Given the description of an element on the screen output the (x, y) to click on. 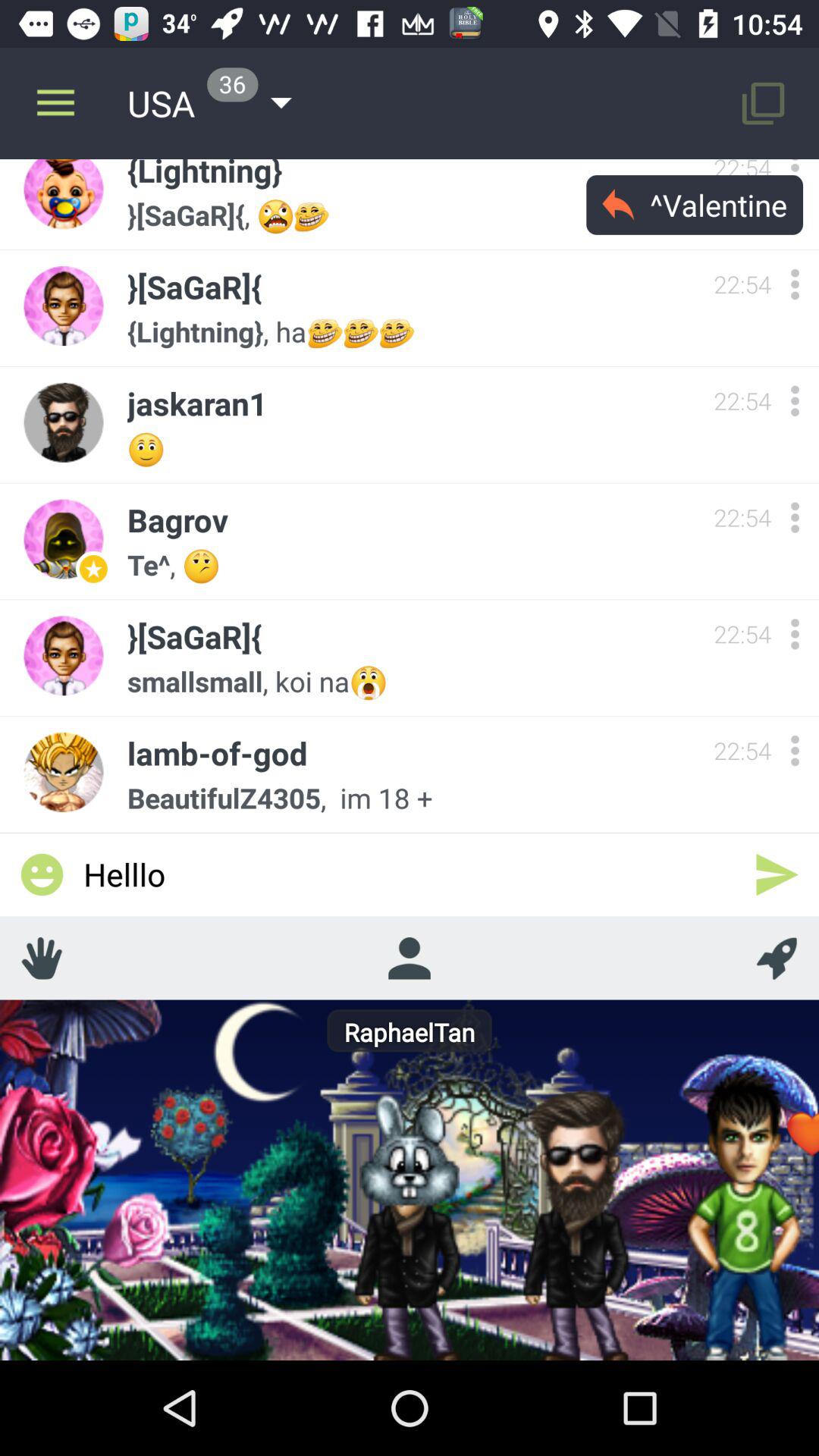
enter message (777, 874)
